Given the description of an element on the screen output the (x, y) to click on. 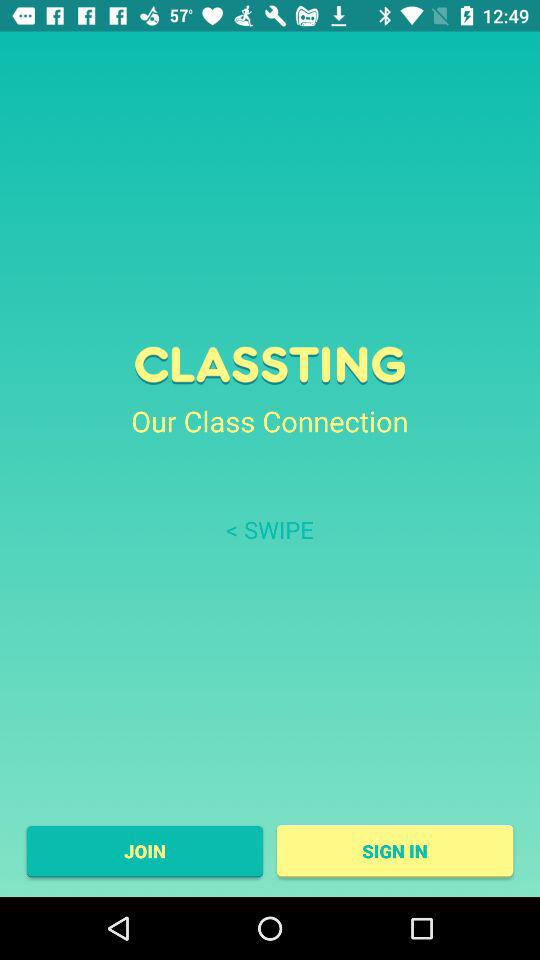
turn on item at the bottom right corner (394, 851)
